Given the description of an element on the screen output the (x, y) to click on. 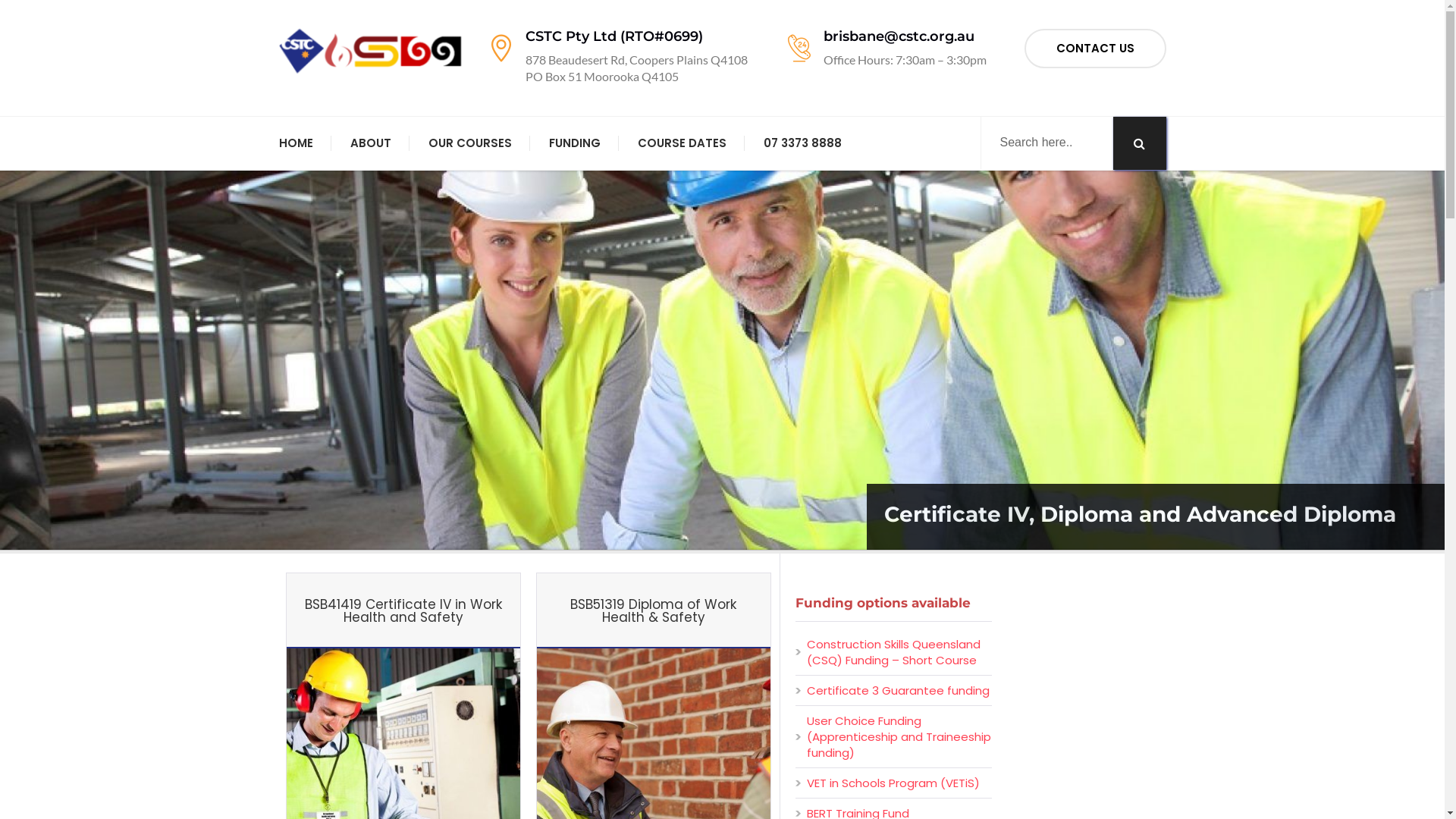
User Choice Funding (Apprenticeship and Traineeship funding) Element type: text (898, 736)
FUNDING Element type: text (574, 142)
COURSE DATES Element type: text (681, 142)
CONTACT US Element type: text (1094, 48)
Certificate 3 Guarantee funding Element type: text (897, 690)
07 3373 8888 Element type: text (801, 142)
ABOUT Element type: text (370, 142)
VET in Schools Program (VETiS) Element type: text (892, 782)
OUR COURSES Element type: text (469, 142)
HOME Element type: text (296, 142)
